Given the description of an element on the screen output the (x, y) to click on. 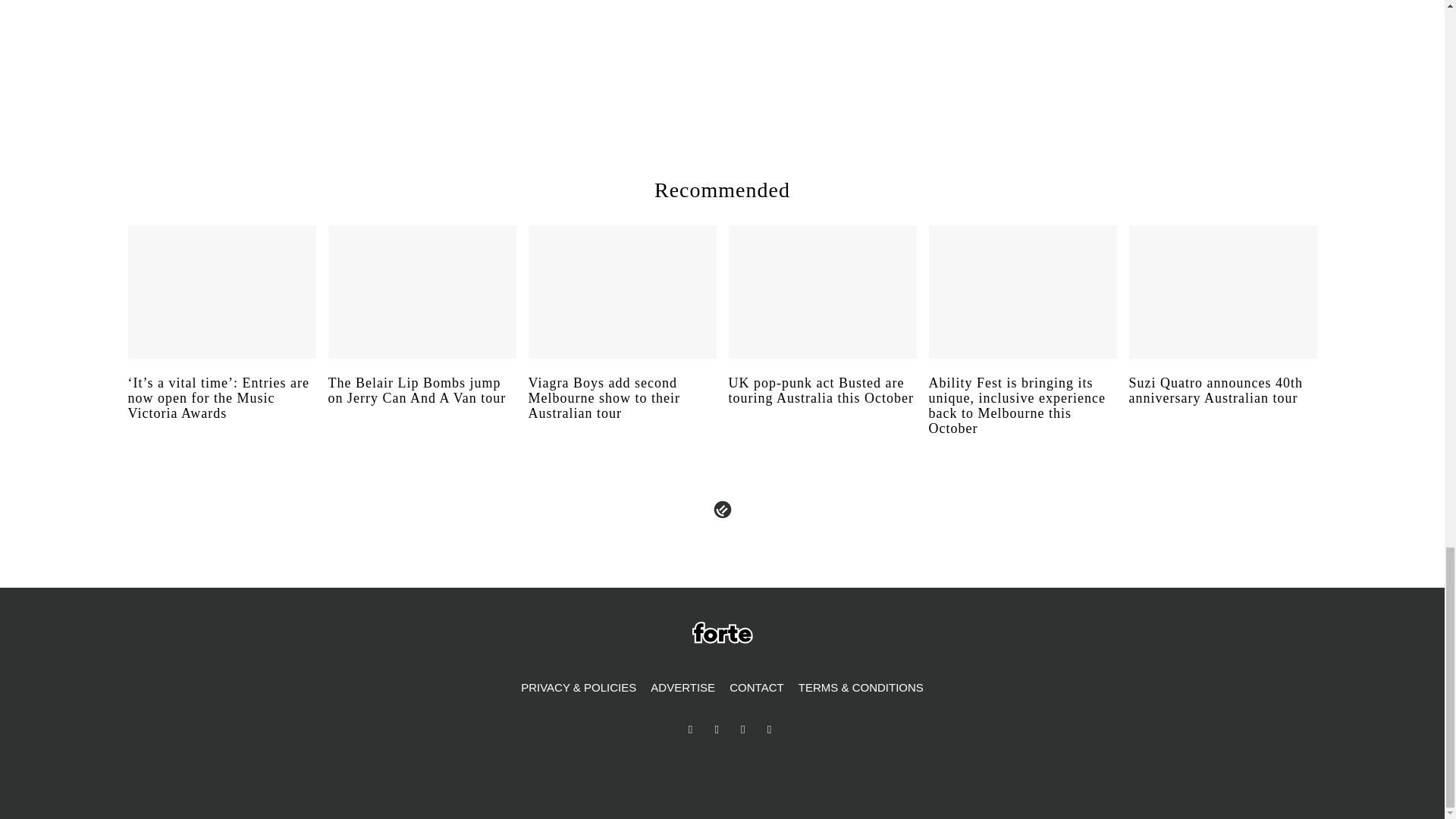
UK pop-punk act Busted are touring Australia this October (821, 404)
Suzi Quatro announces 40th anniversary Australian tour (1222, 404)
3rd party ad content (1082, 54)
The Belair Lip Bombs jump on Jerry Can And A Van tour (421, 404)
